Given the description of an element on the screen output the (x, y) to click on. 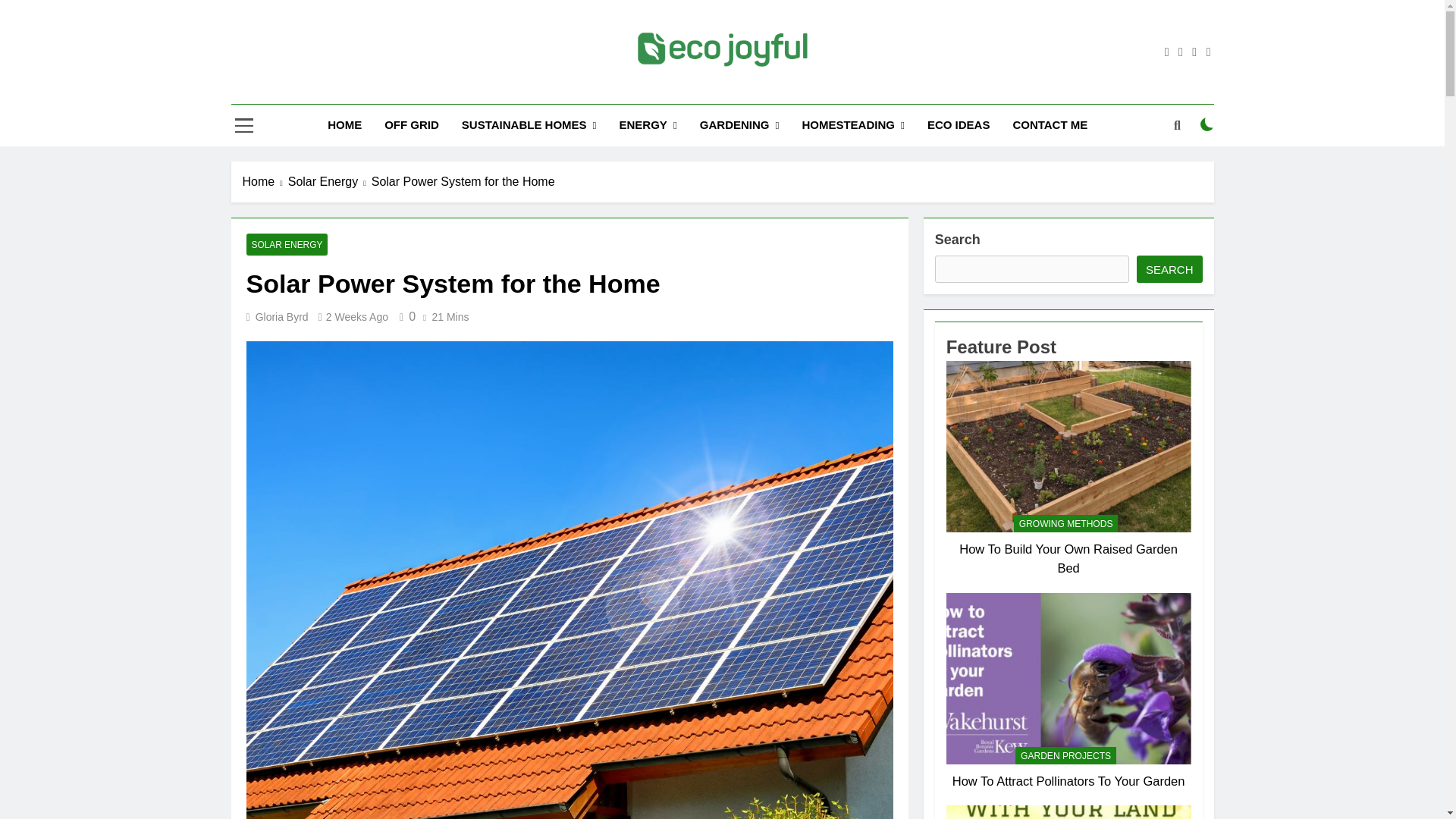
HOMESTEADING (852, 125)
CONTACT ME (1050, 124)
SUSTAINABLE HOMES (528, 125)
ENERGY (648, 125)
on (1206, 124)
OFF GRID (410, 124)
ECO IDEAS (958, 124)
HOME (343, 124)
Sustainable Eco Friendly Life (697, 89)
GARDENING (739, 125)
